Given the description of an element on the screen output the (x, y) to click on. 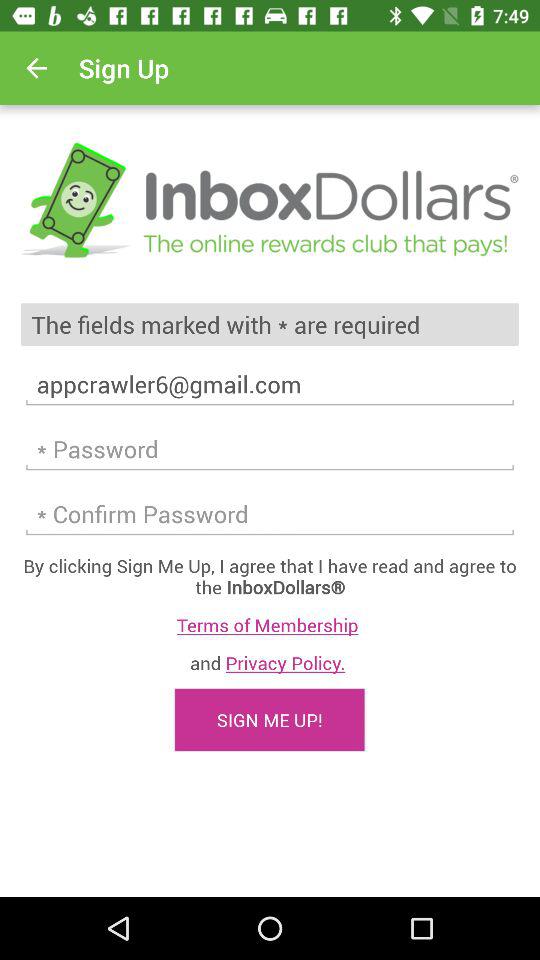
turn off the item above appcrawler6@gmail.com item (270, 324)
